Given the description of an element on the screen output the (x, y) to click on. 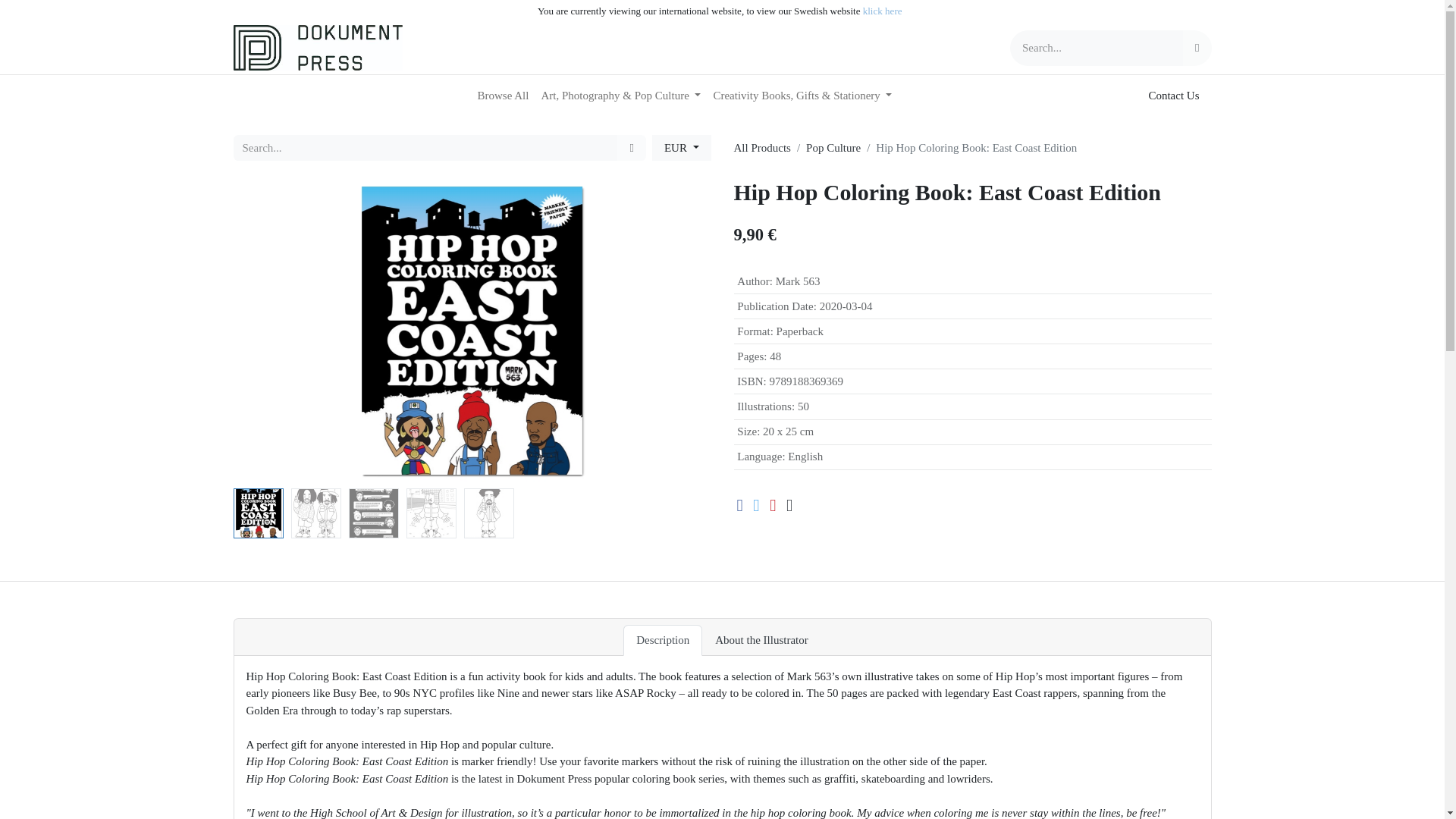
EUR (681, 148)
Search (631, 148)
klick here (882, 10)
Dokument Press (317, 47)
Contact Us (1173, 96)
Browse All (503, 95)
